Given the description of an element on the screen output the (x, y) to click on. 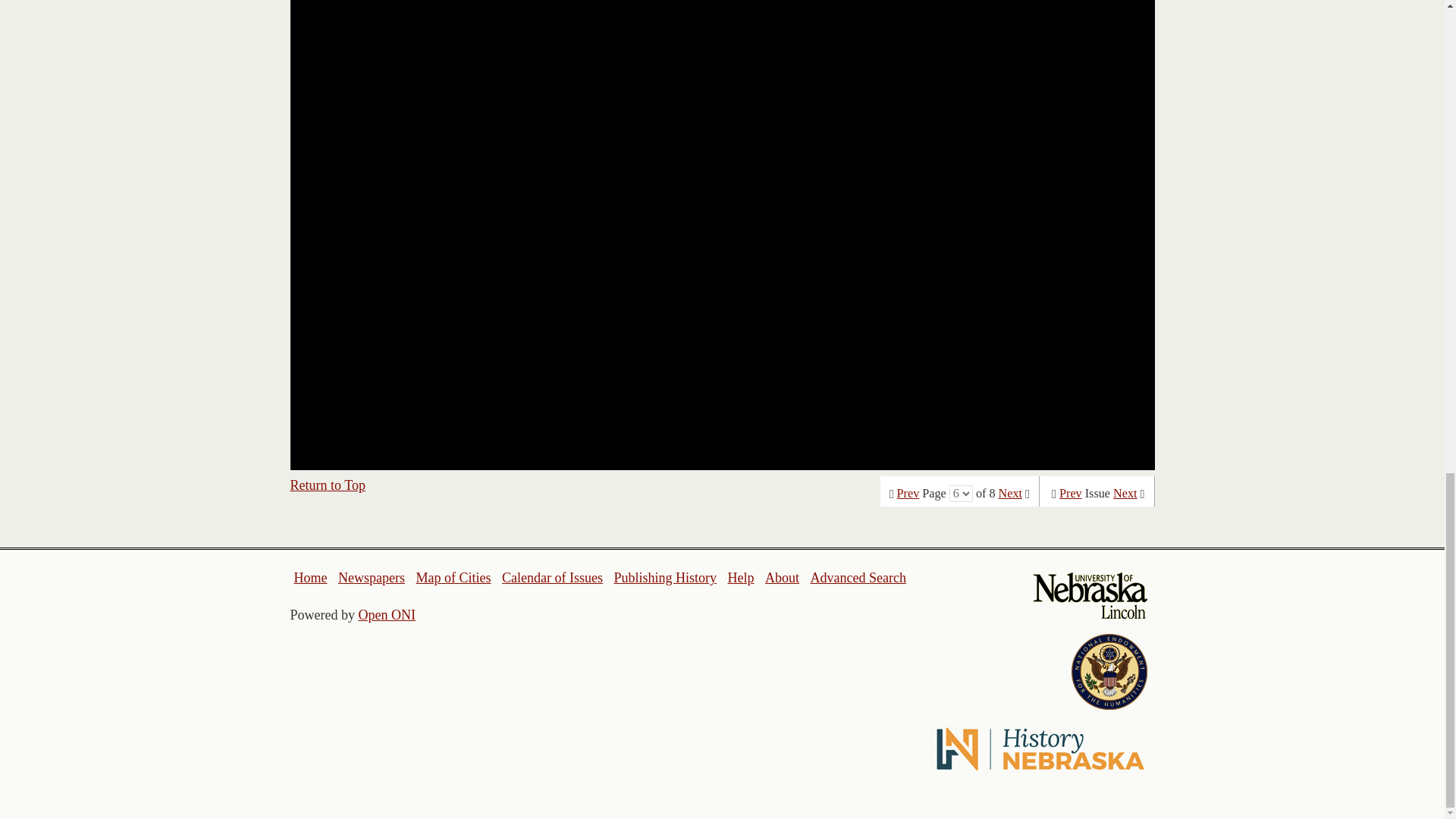
About (782, 577)
Help (740, 577)
Prev (1070, 493)
Next (1125, 493)
Prev (908, 493)
Calendar of Issues (552, 577)
Open ONI (386, 614)
Next (1010, 493)
Advanced Search (857, 577)
Publishing History (664, 577)
